Given the description of an element on the screen output the (x, y) to click on. 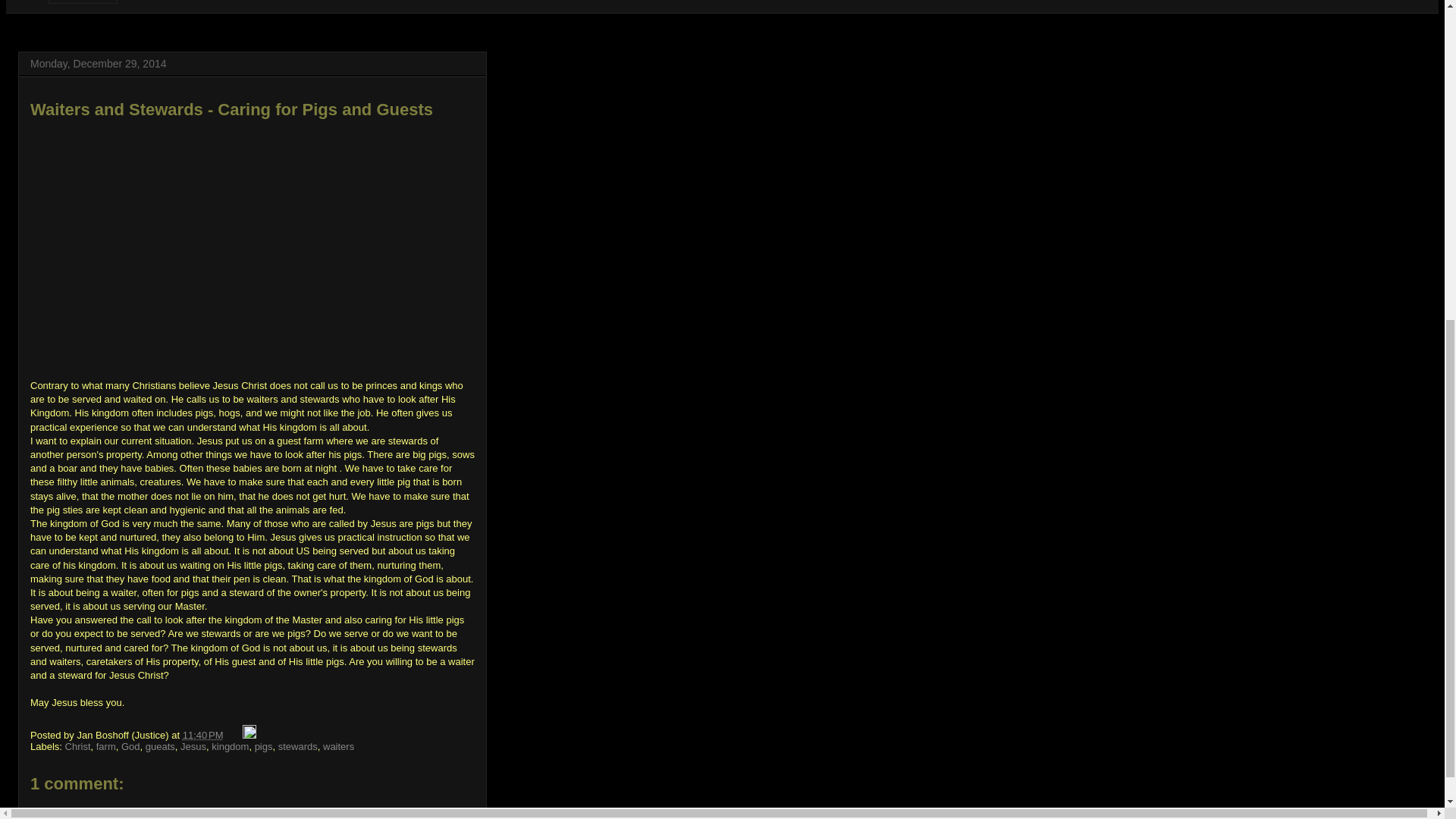
farm (106, 746)
God (129, 746)
pigs (263, 746)
Edit Post (249, 735)
kingdom (229, 746)
stewards (297, 746)
gueats (159, 746)
waiters (338, 746)
Christ (77, 746)
Donate (82, 2)
